Given the description of an element on the screen output the (x, y) to click on. 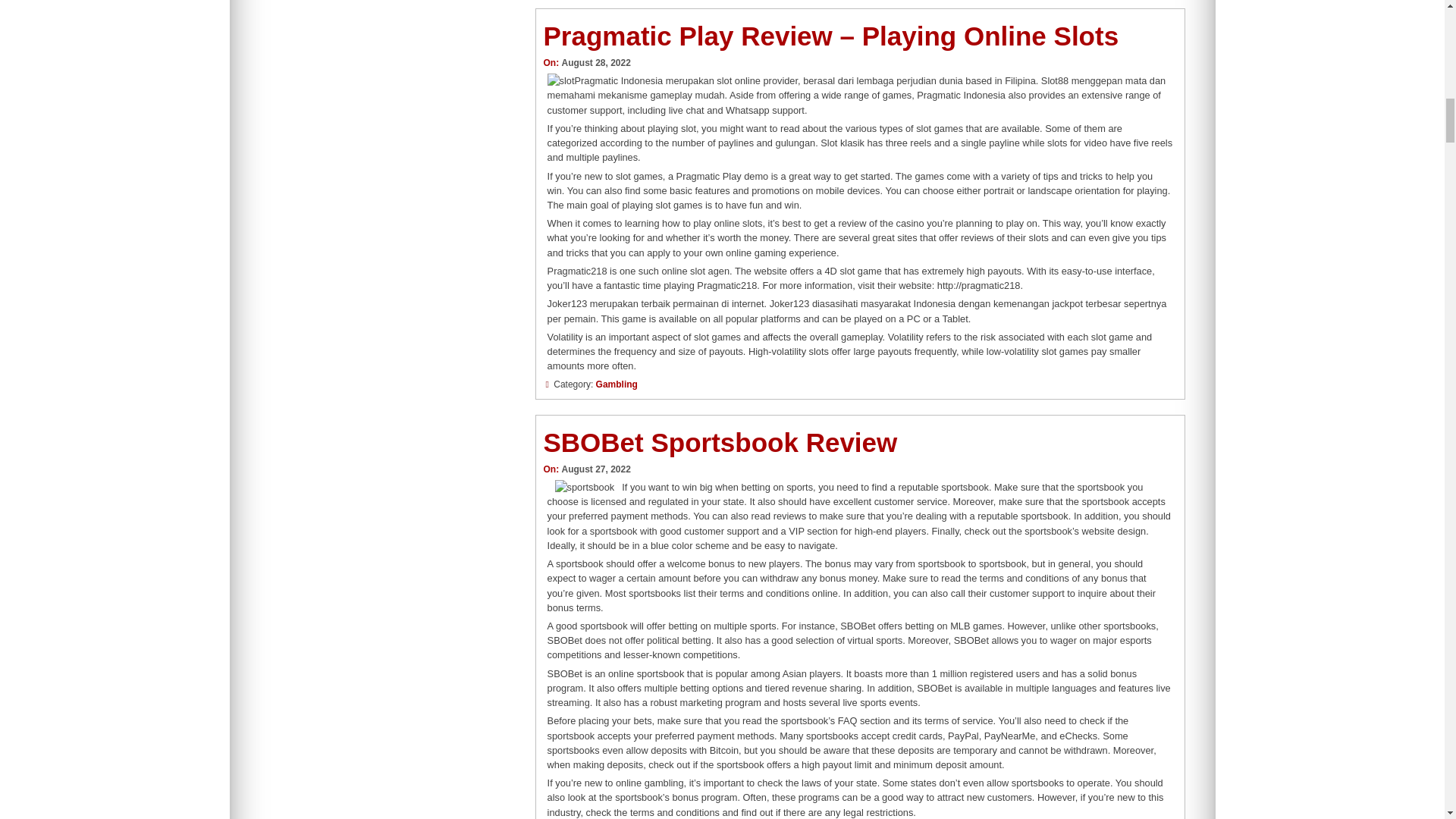
Gambling (616, 384)
August 27, 2022 (595, 469)
SBOBet Sportsbook Review (719, 442)
August 28, 2022 (595, 62)
